Given the description of an element on the screen output the (x, y) to click on. 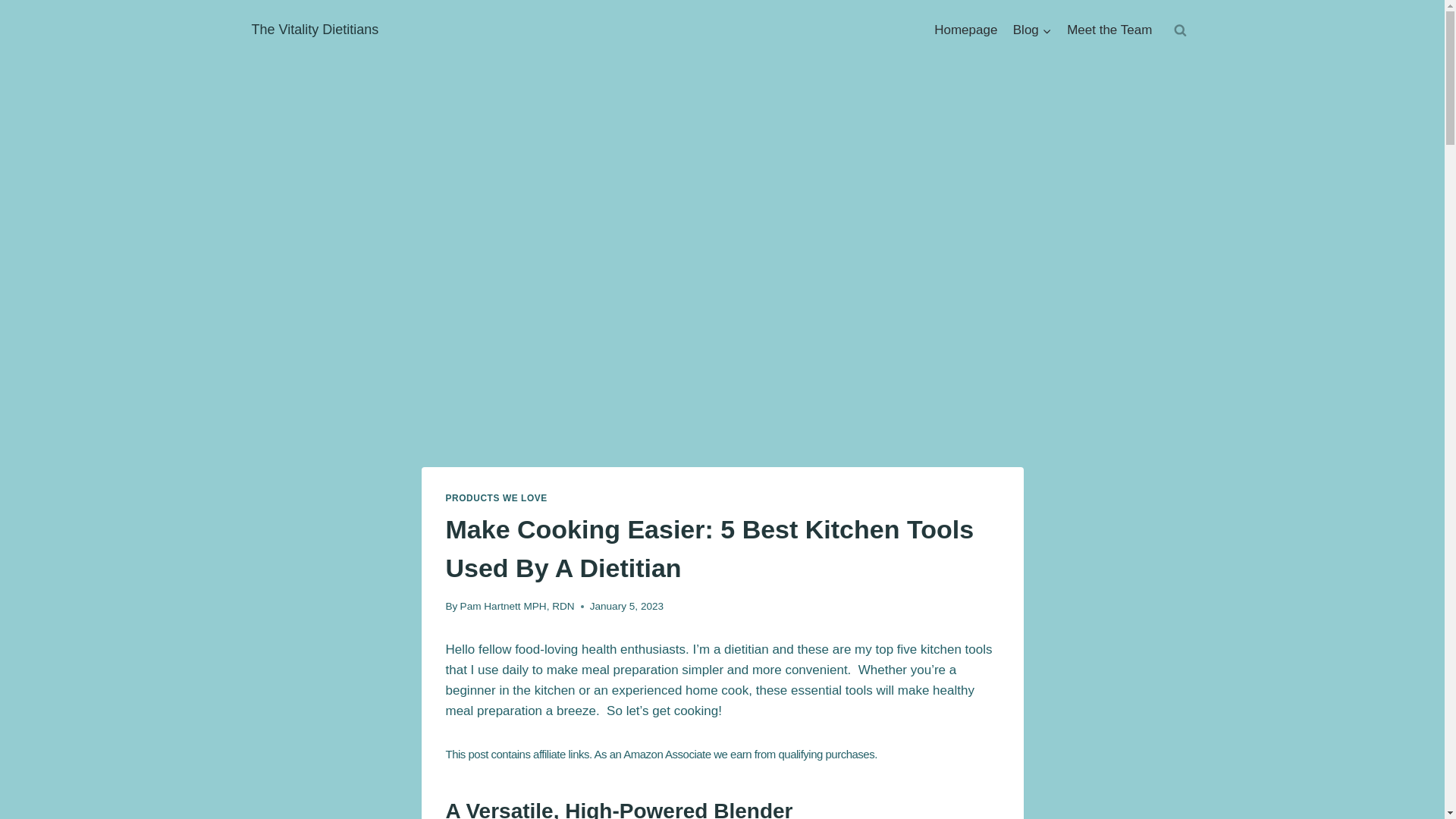
Meet the Team (1109, 30)
PRODUCTS WE LOVE (496, 498)
The Vitality Dietitians (314, 30)
Homepage (966, 30)
Blog (1032, 30)
Pam Hartnett MPH, RDN (517, 605)
